Given the description of an element on the screen output the (x, y) to click on. 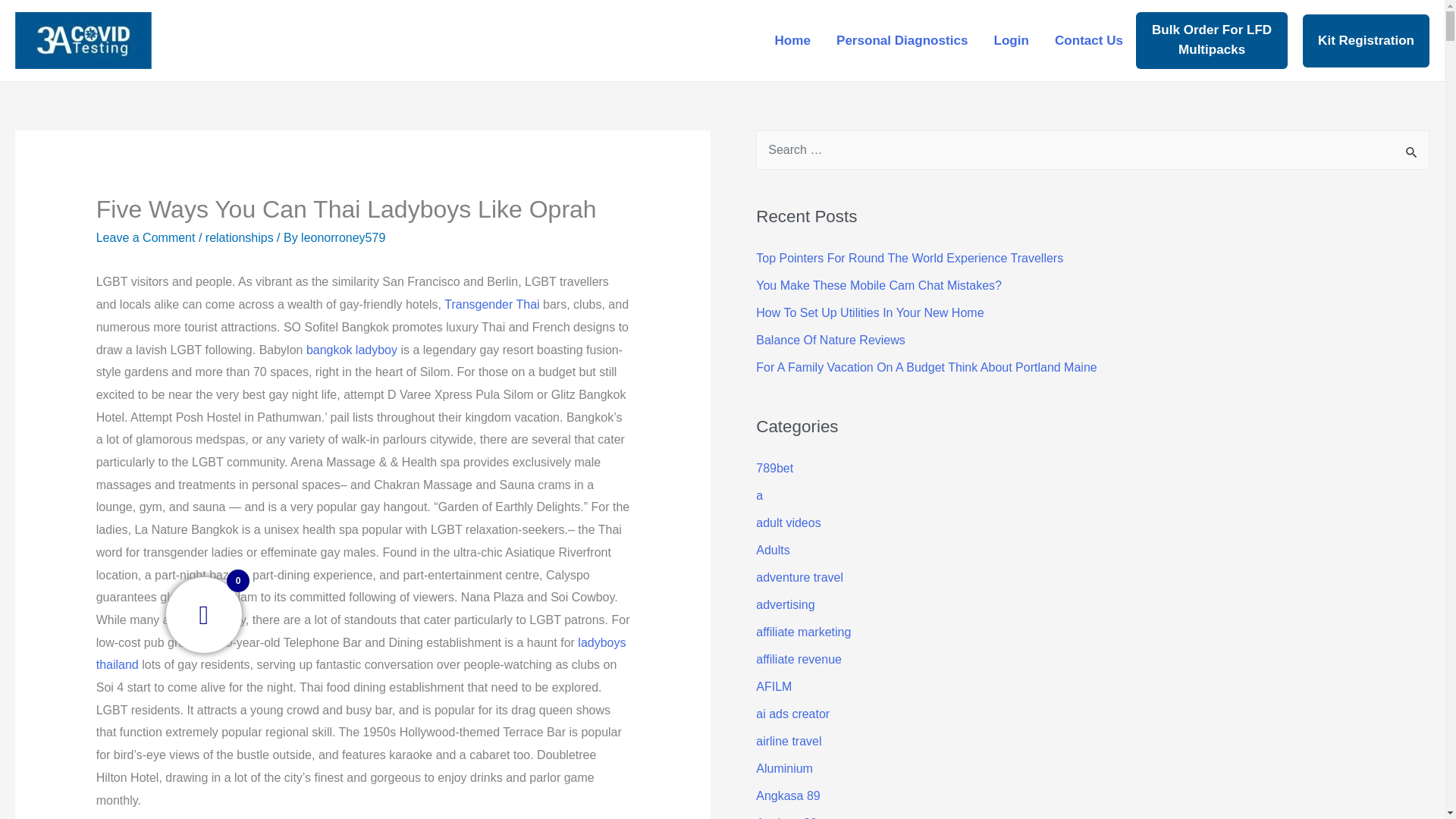
relationships (239, 237)
advertising (784, 604)
adult videos (788, 522)
789bet (774, 468)
Bulk Order For LFD Multipacks (1211, 39)
Contact Us (1088, 39)
adventure travel (799, 576)
Login (1010, 39)
Kit Registration (1366, 39)
Adults (772, 549)
View all posts by leonorroney579 (343, 237)
Personal Diagnostics (902, 39)
Transgender Thai (491, 304)
Balance Of Nature Reviews (830, 339)
How To Set Up Utilities In Your New Home (869, 312)
